Given the description of an element on the screen output the (x, y) to click on. 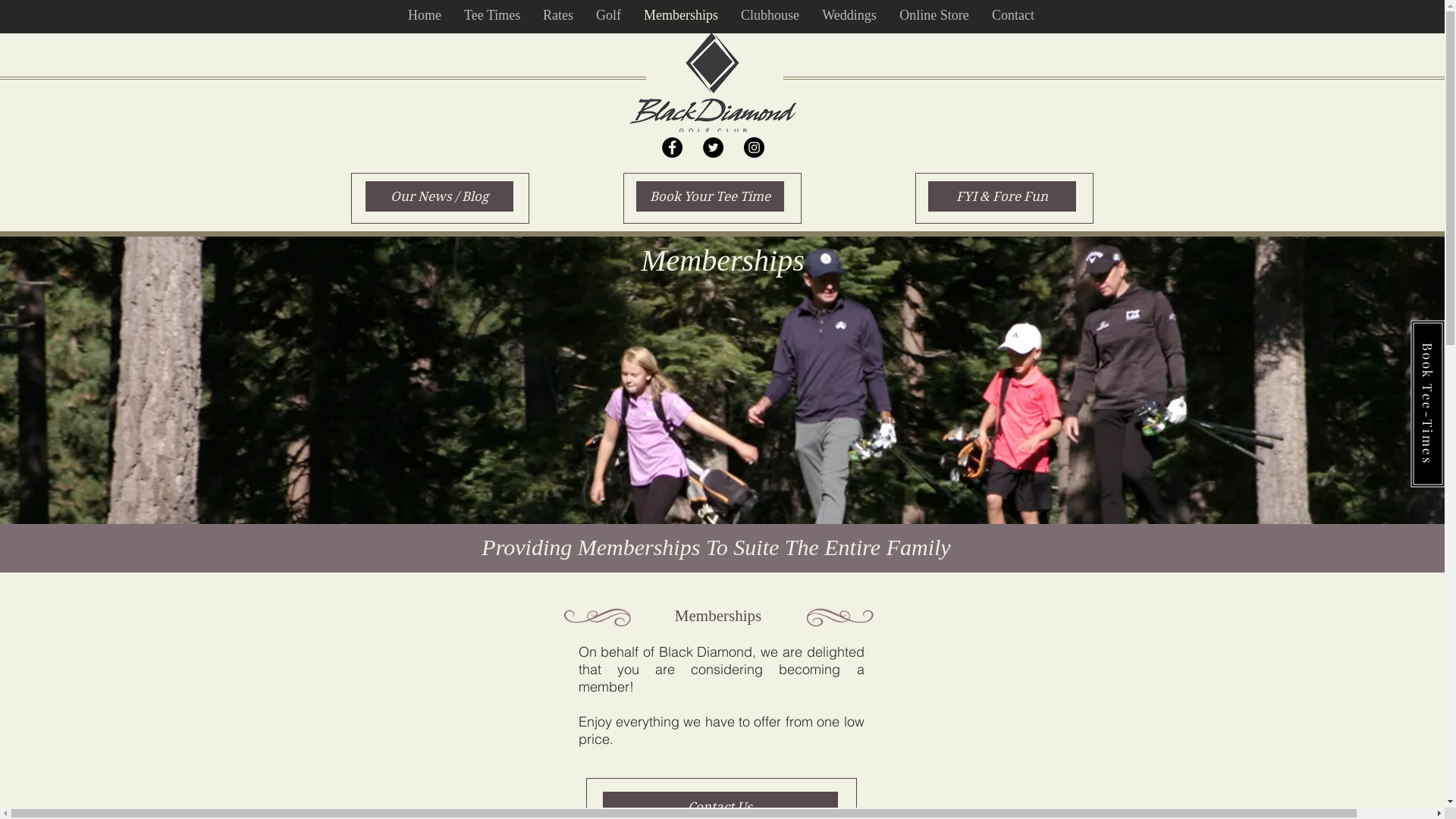
FYI & Fore Fun Element type: text (1002, 196)
Book Your Tee Time Element type: text (709, 196)
Our News / Blog Element type: text (439, 196)
